Given the description of an element on the screen output the (x, y) to click on. 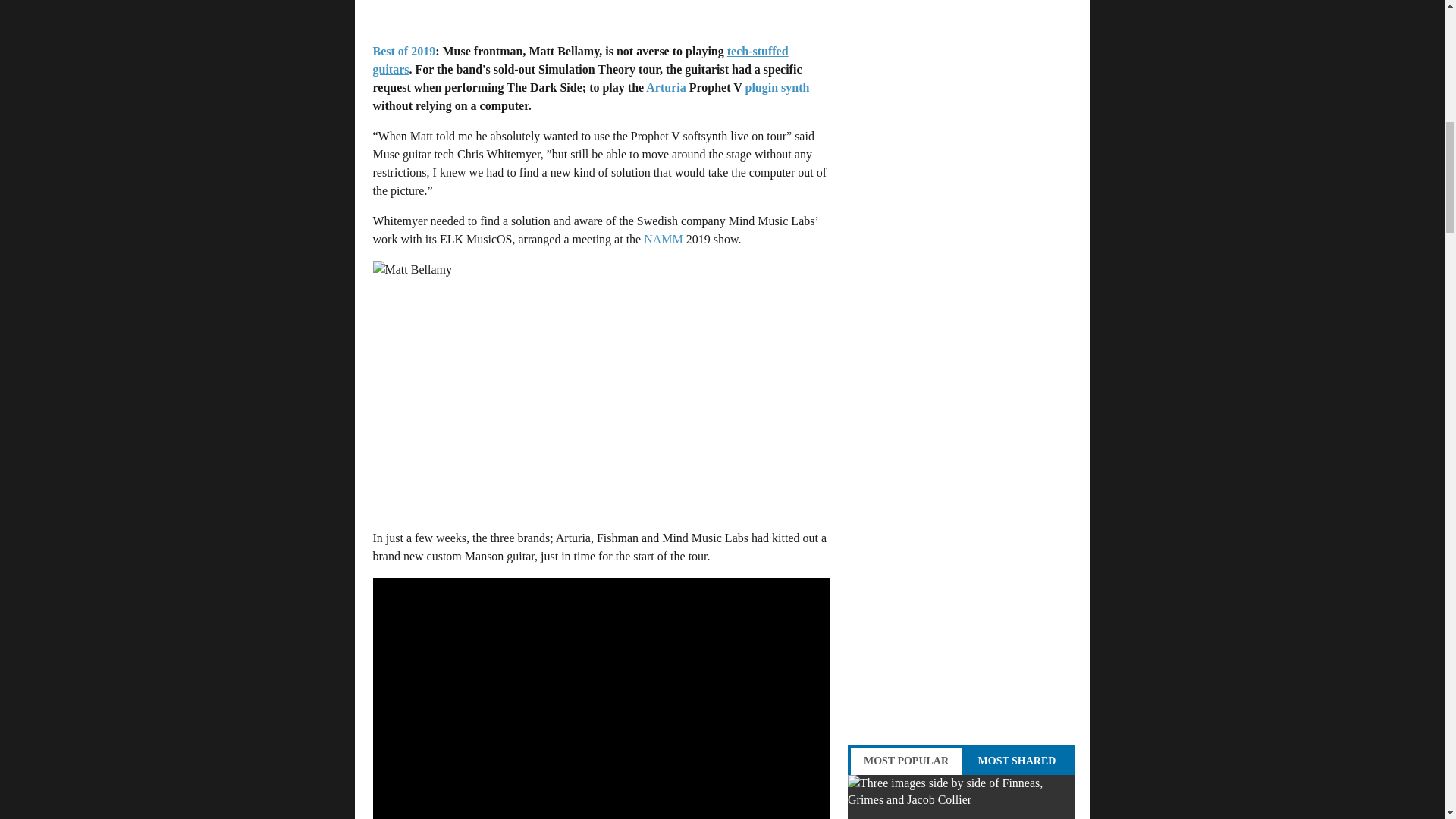
Which audio interfaces do the pros use? (961, 796)
